Given the description of an element on the screen output the (x, y) to click on. 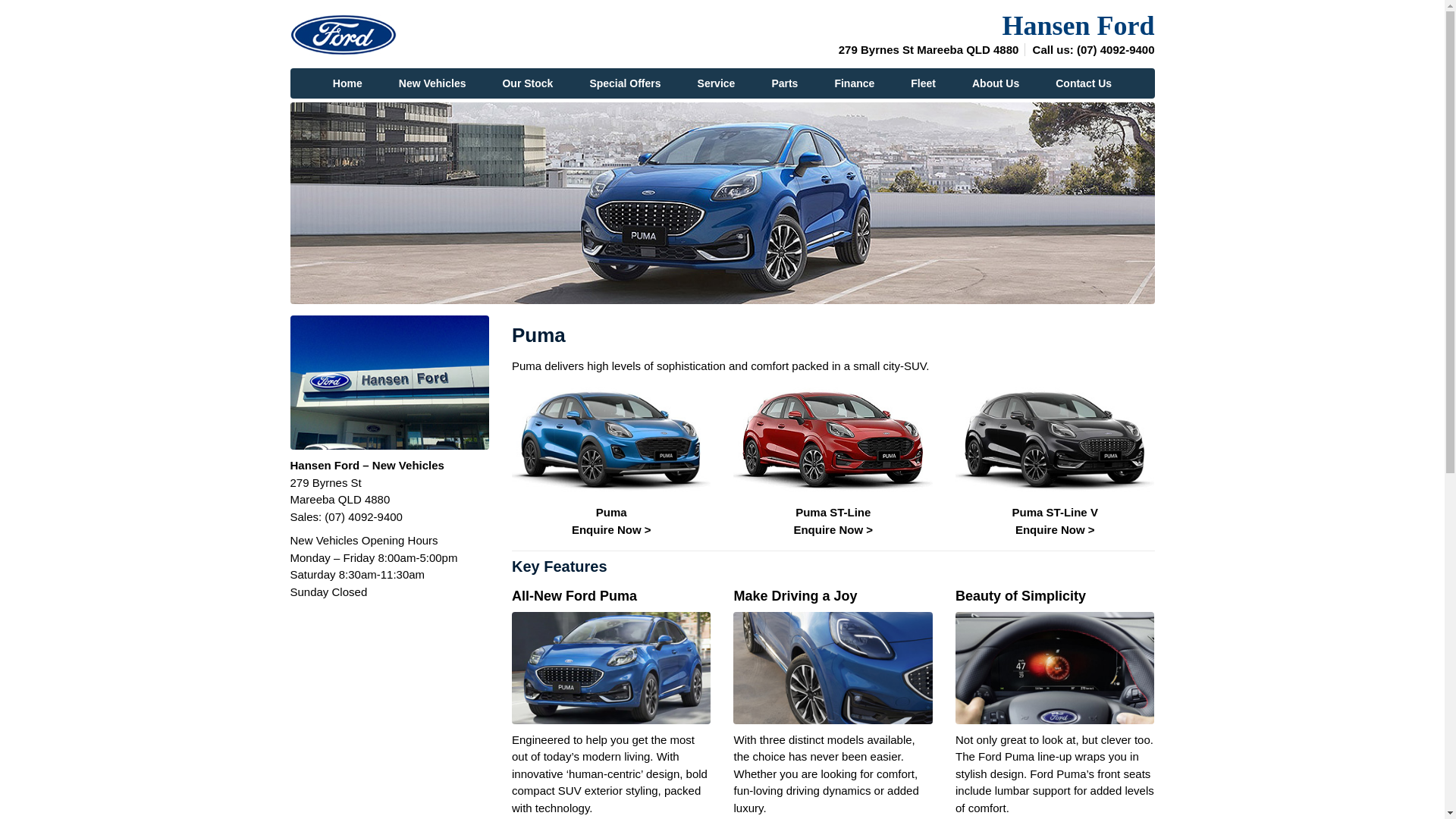
Special Offers Element type: text (624, 83)
Our Stock Element type: text (527, 83)
Fleet Element type: text (922, 83)
Home Element type: text (347, 83)
Enquire Now > Element type: text (1055, 529)
Contact Us Element type: text (1083, 83)
Service Element type: text (716, 83)
Parts Element type: text (784, 83)
Enquire Now > Element type: text (611, 529)
(07) 4092-9400 Element type: text (1115, 49)
Finance Element type: text (853, 83)
Enquire Now > Element type: text (832, 529)
About Us Element type: text (995, 83)
New Vehicles Element type: text (432, 83)
(07) 4092-9400 Element type: text (363, 516)
